Given the description of an element on the screen output the (x, y) to click on. 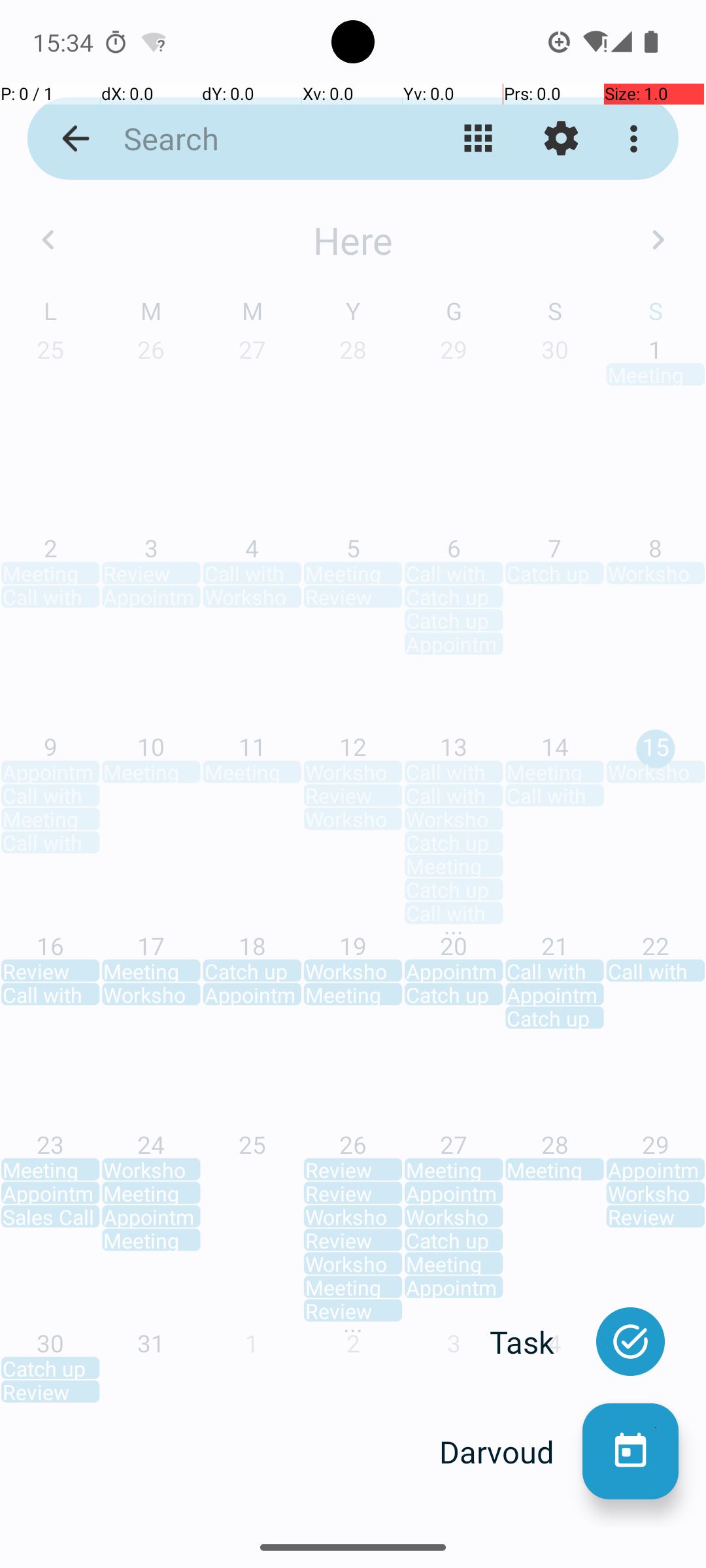
Kemmañ ar gwel Element type: android.widget.Button (477, 138)
Darvoud Element type: android.widget.TextView (510, 1451)
Darvoud nevez Element type: android.widget.ImageButton (630, 1451)
Here Element type: android.widget.TextView (352, 239)
